Given the description of an element on the screen output the (x, y) to click on. 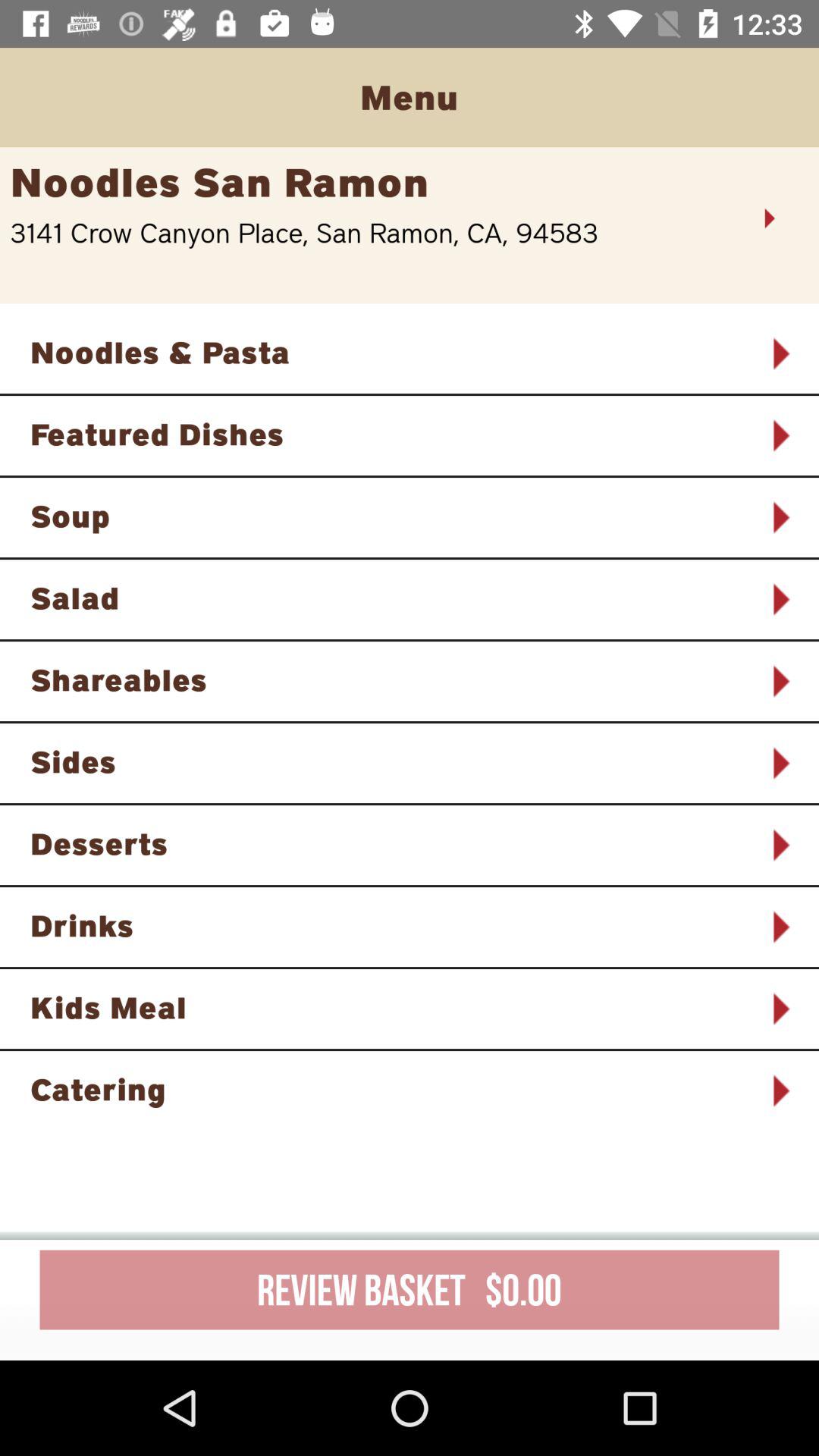
turn off the item below noodles & pasta  item (390, 433)
